Given the description of an element on the screen output the (x, y) to click on. 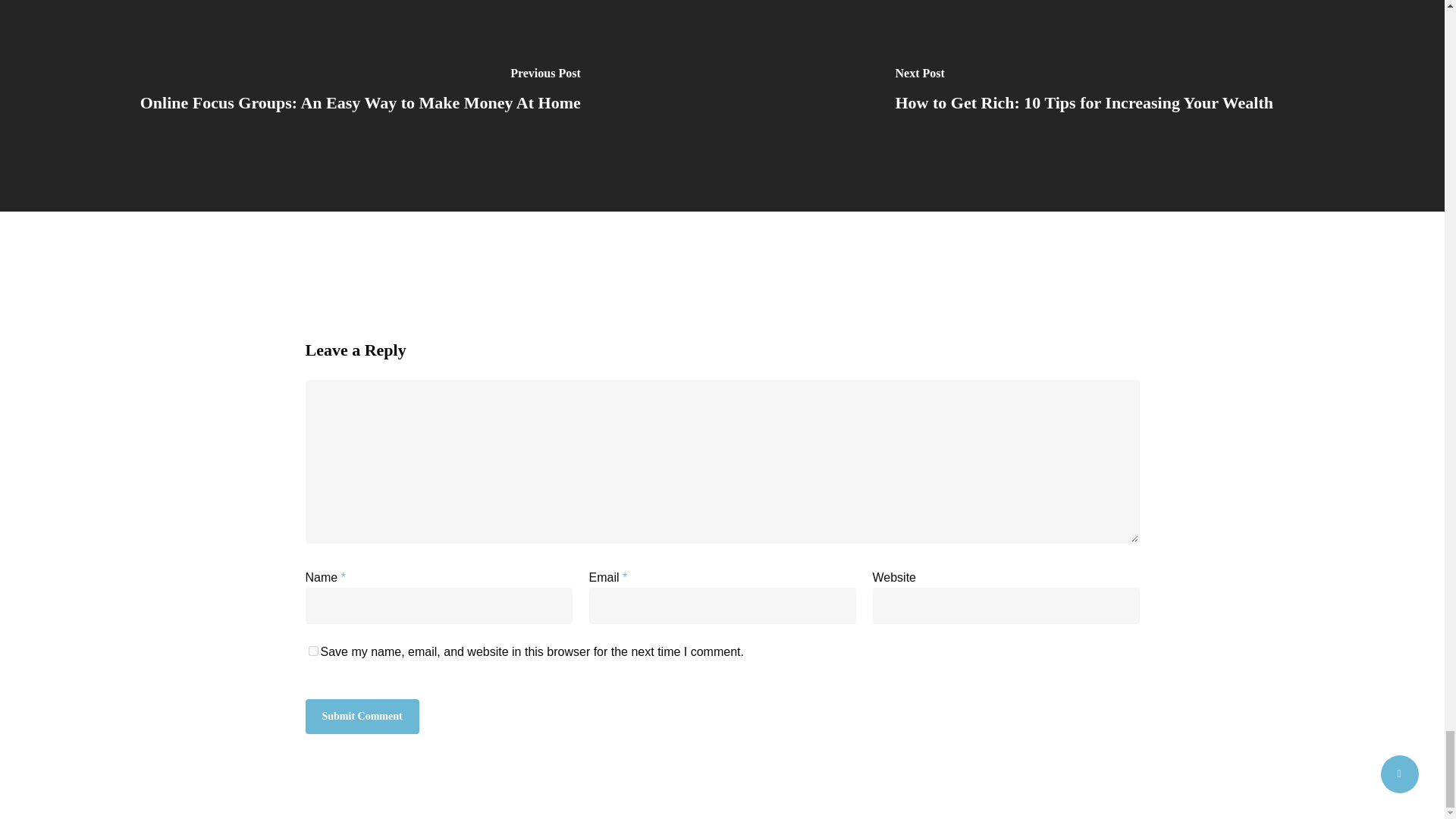
Submit Comment (361, 716)
yes (312, 651)
